Given the description of an element on the screen output the (x, y) to click on. 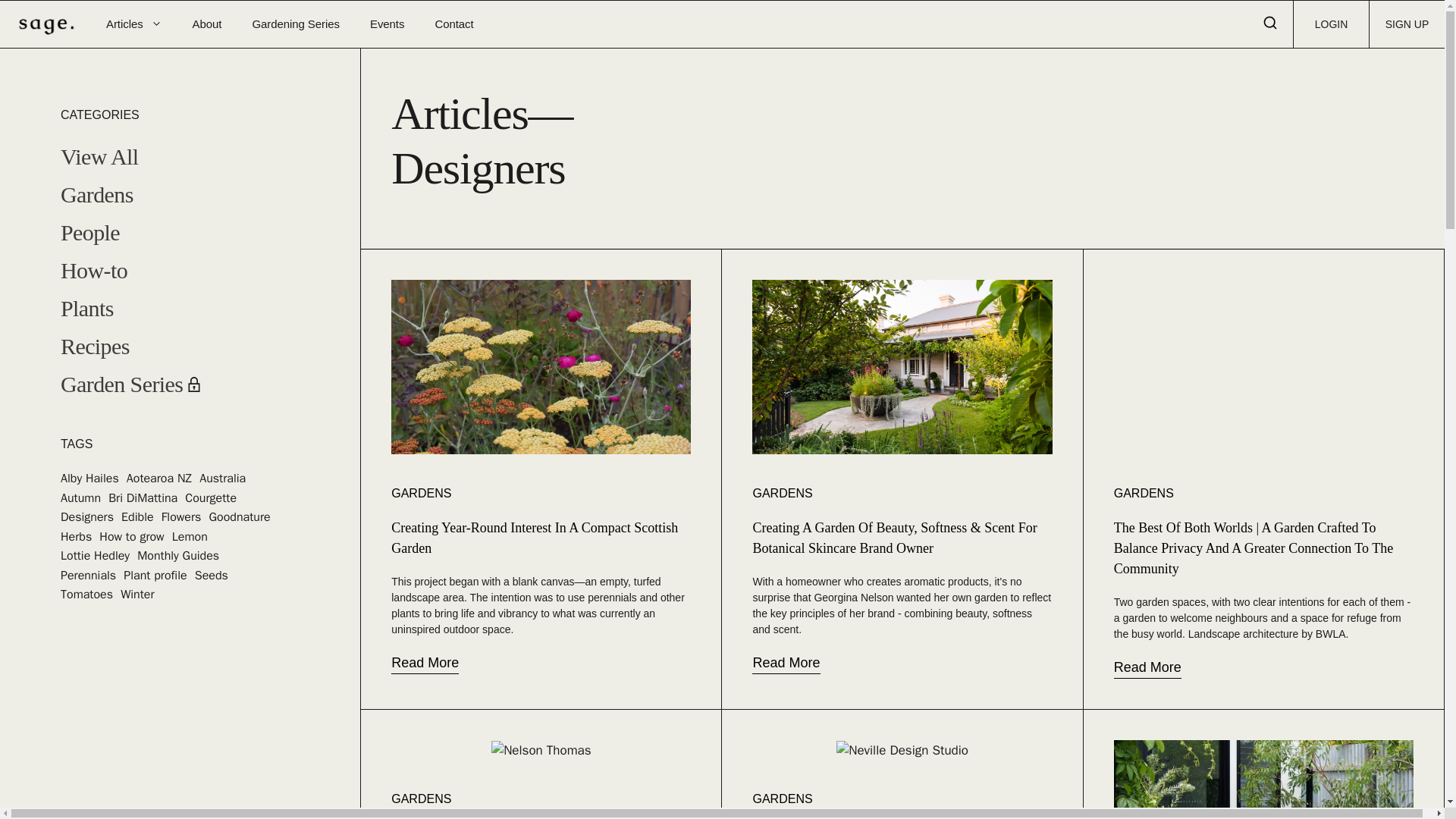
LOGIN (1331, 24)
SIGN UP (1407, 24)
Events (387, 23)
About (207, 23)
LOGIN (1331, 24)
Articles (133, 23)
Contact (453, 23)
Gardening Series (295, 23)
